Given the description of an element on the screen output the (x, y) to click on. 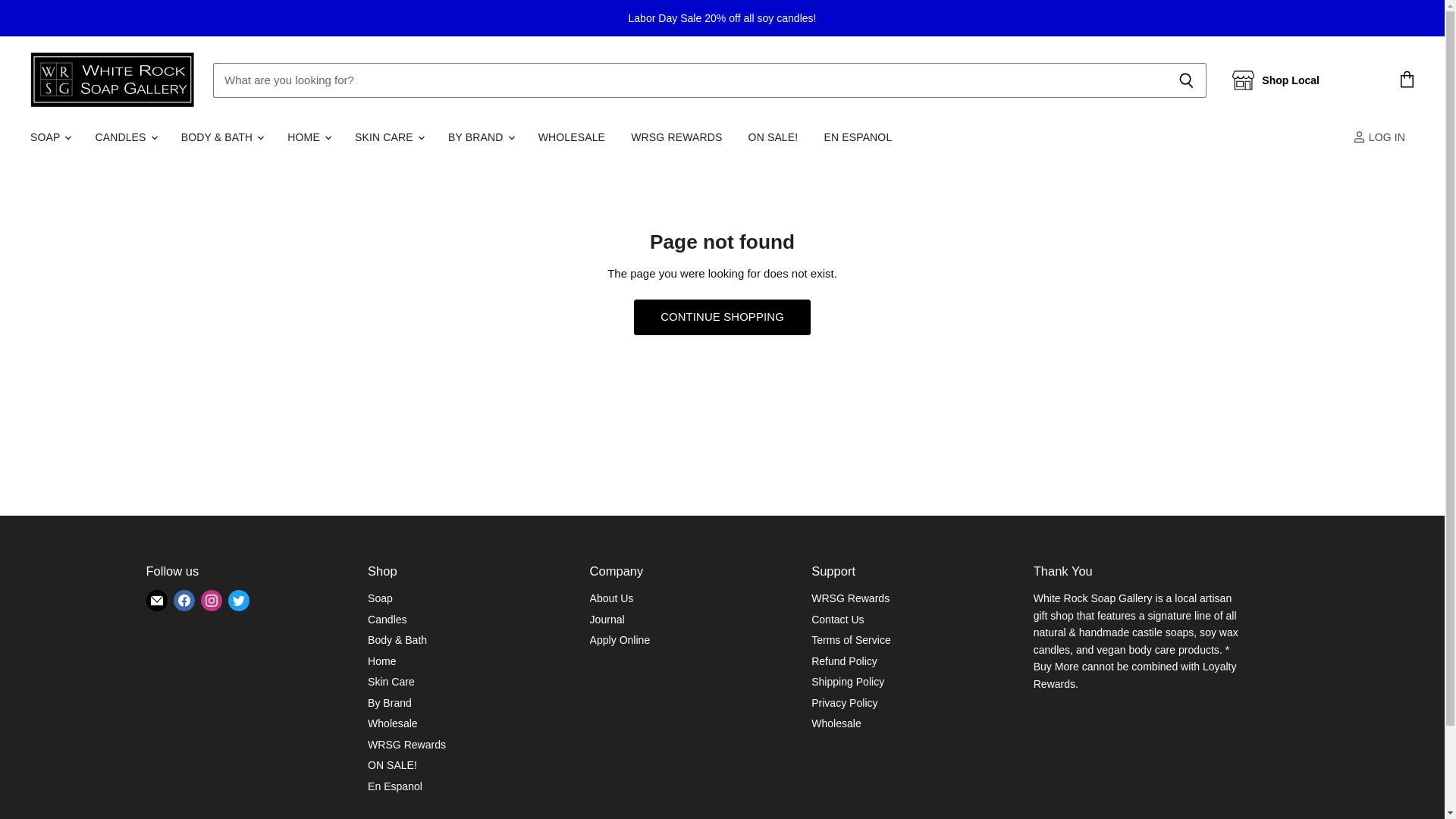
Twitter (237, 600)
E-mail (156, 600)
SOAP (49, 137)
Instagram (210, 600)
ACCOUNT ICON (1358, 136)
CANDLES (123, 137)
Store icon (1243, 79)
Facebook (183, 600)
